Given the description of an element on the screen output the (x, y) to click on. 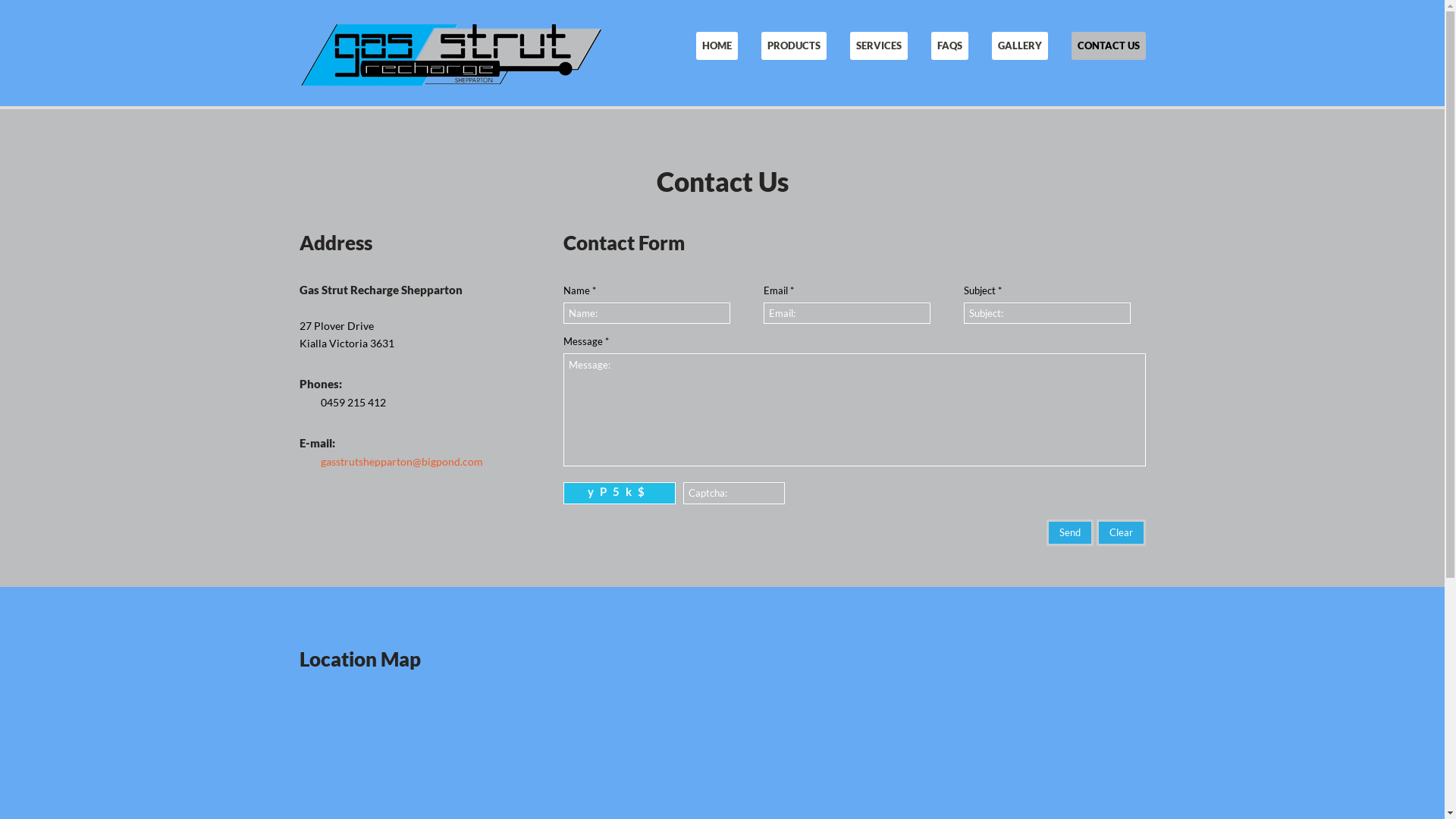
PRODUCTS Element type: text (793, 45)
Clear Element type: text (1120, 531)
CONTACT US Element type: text (1107, 45)
GALLERY Element type: text (1019, 45)
gasstrutshepparton@bigpond.com Element type: text (401, 461)
HOME Element type: text (716, 45)
Send Element type: text (1069, 531)
SERVICES Element type: text (877, 45)
FAQS Element type: text (949, 45)
